Given the description of an element on the screen output the (x, y) to click on. 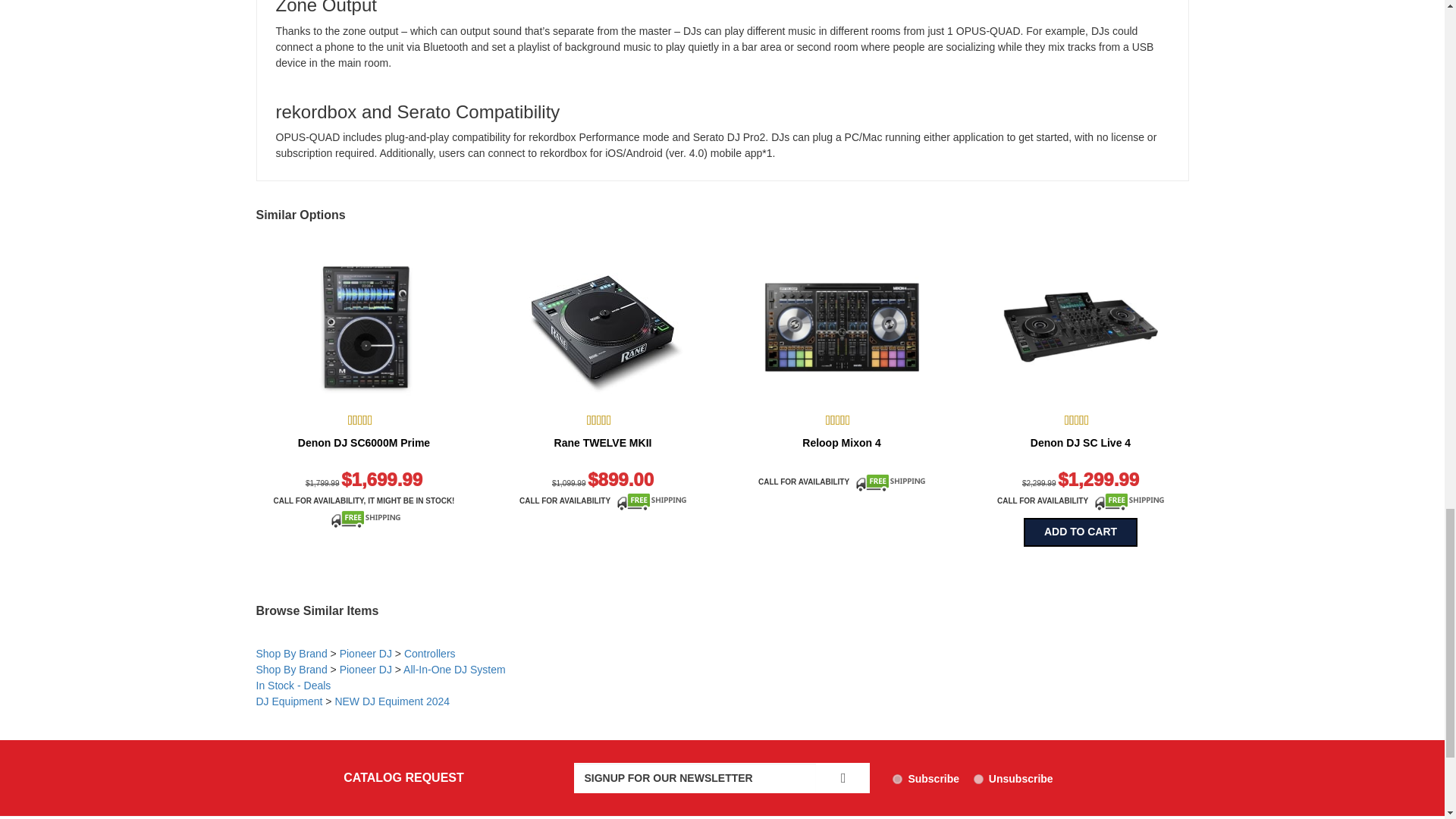
0 (979, 778)
1 (897, 778)
